Given the description of an element on the screen output the (x, y) to click on. 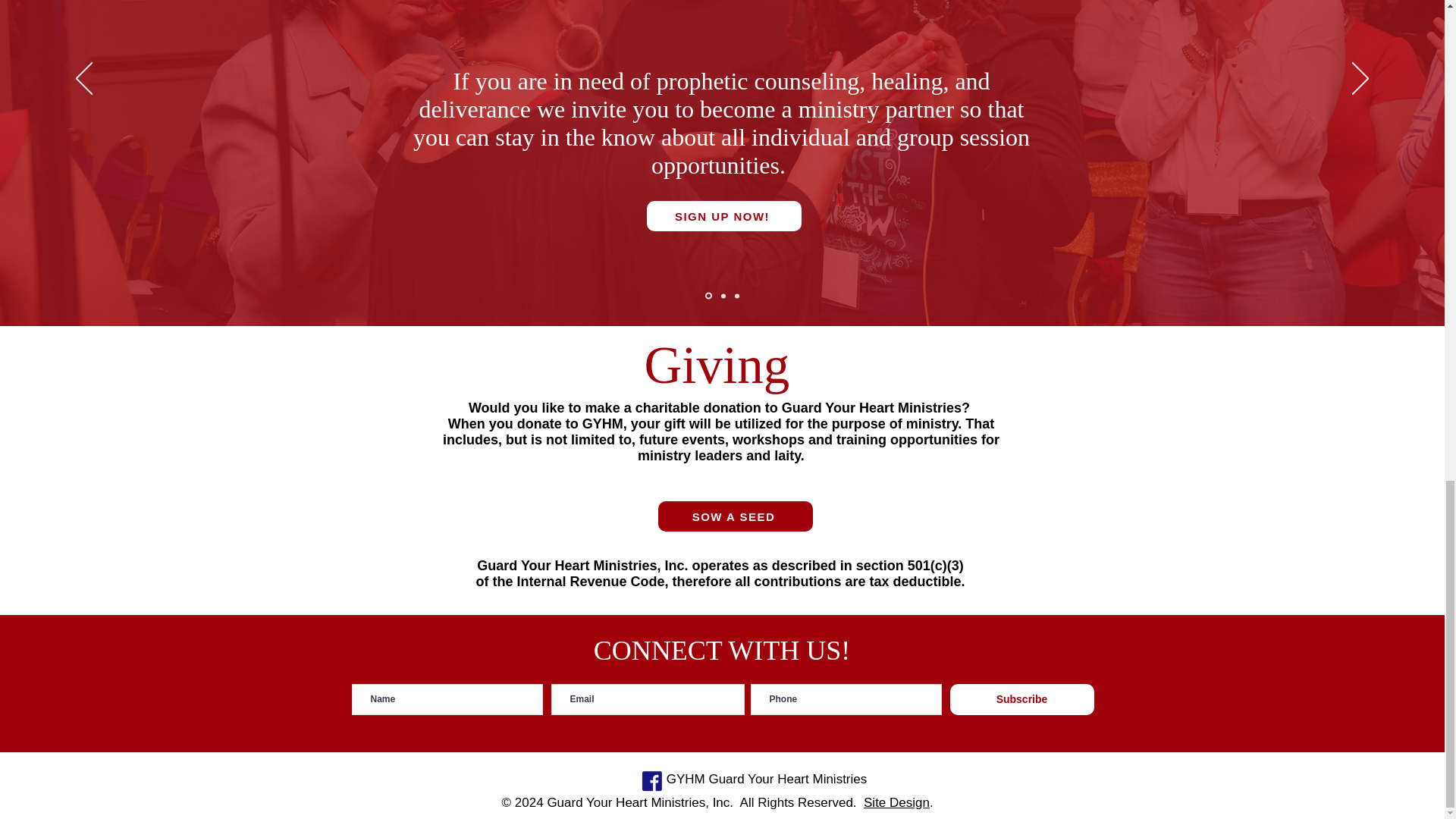
SIGN UP NOW! (723, 215)
SOW A SEED (735, 516)
Site Design (896, 802)
Subscribe (1021, 698)
